Given the description of an element on the screen output the (x, y) to click on. 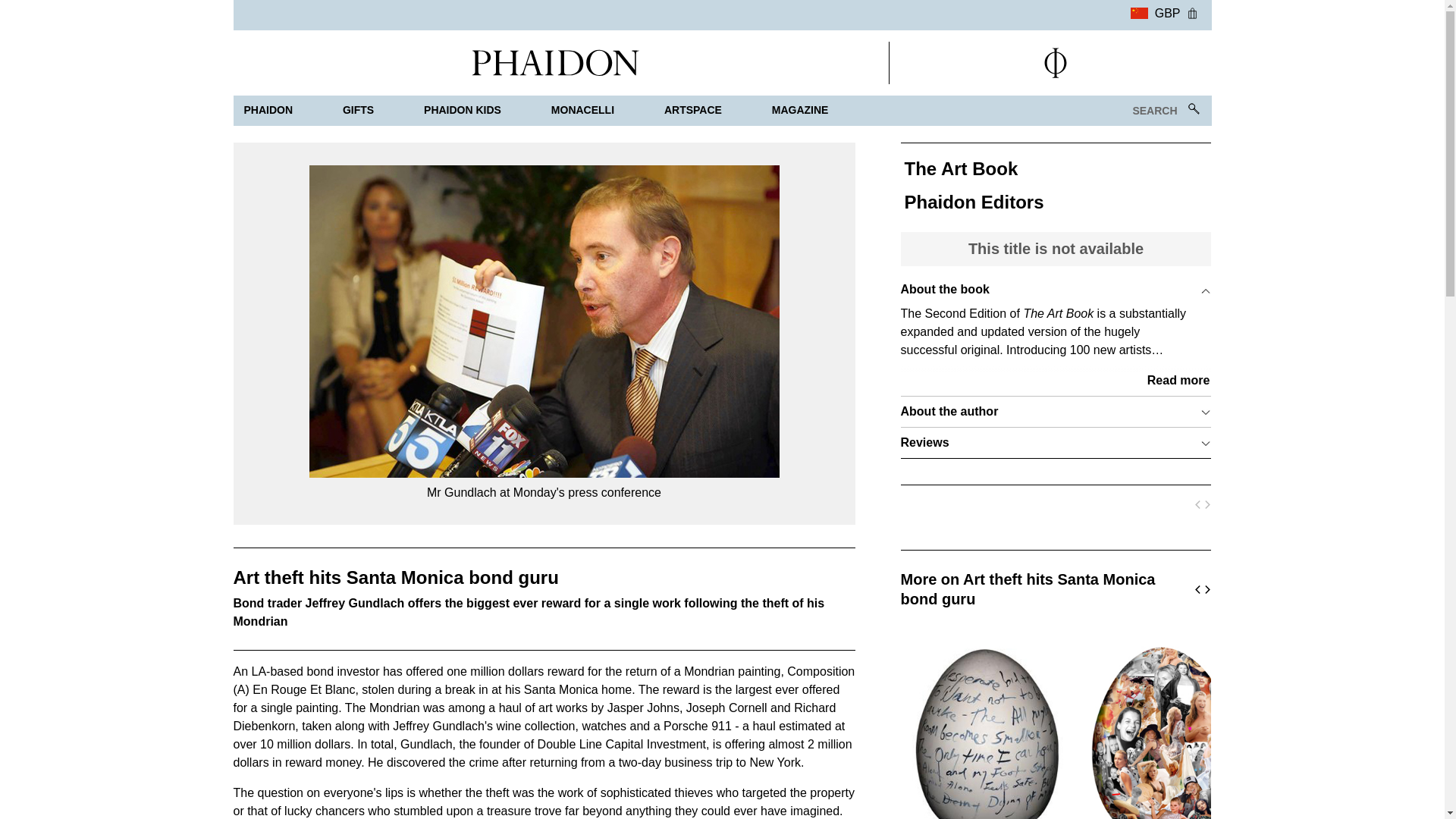
MONACELLI (582, 110)
PHAIDON KIDS (462, 110)
PHAIDON (268, 110)
GIFTS (358, 110)
GBP (1155, 11)
